Given the description of an element on the screen output the (x, y) to click on. 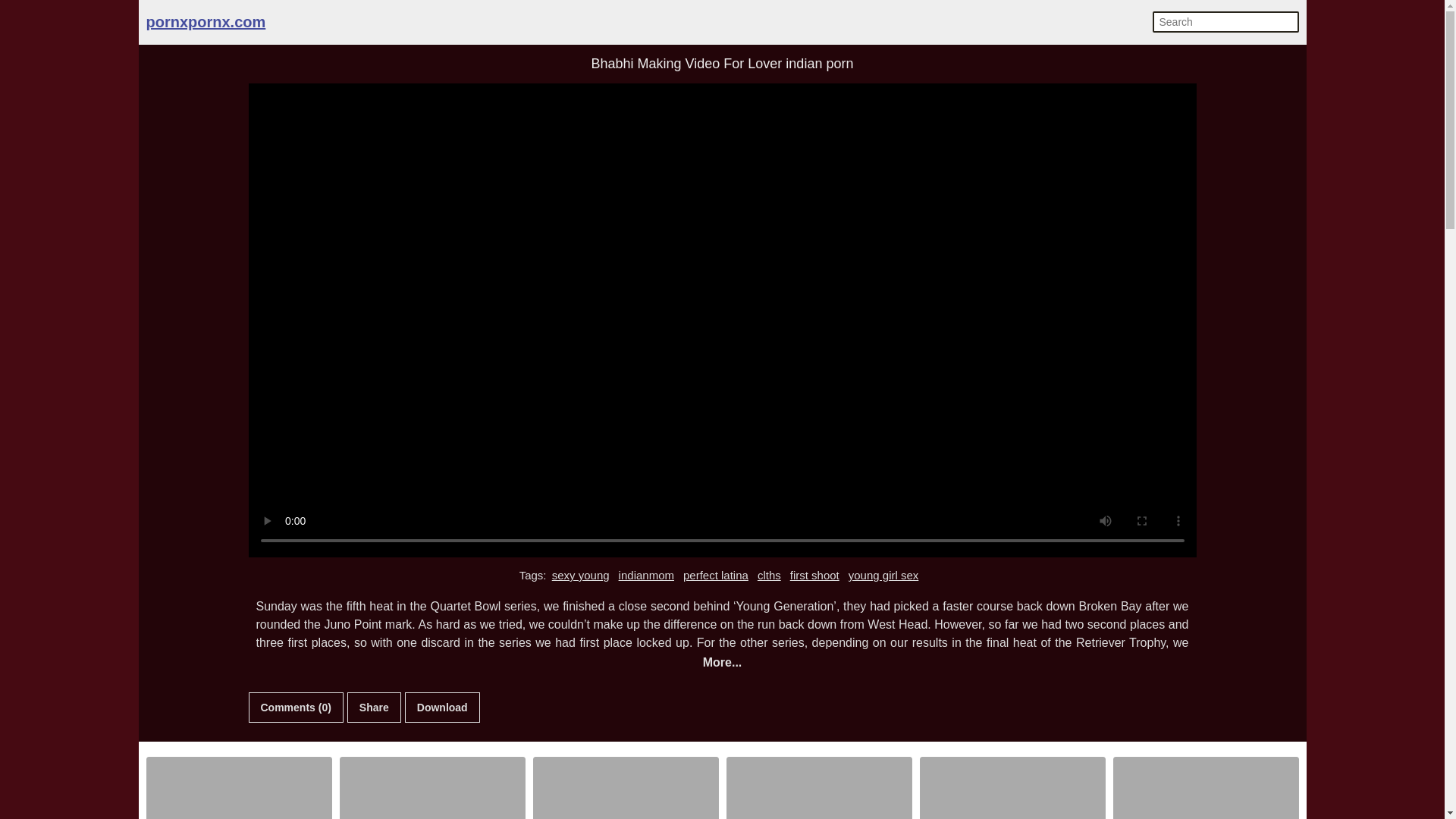
Download (442, 707)
young girl sex (883, 575)
PlayboystarX VIDEOS 32 (1205, 788)
first shoot (814, 575)
clths (769, 575)
Susmita Fashion Shoot 2020 11upmovies (239, 788)
perfect latina (716, 575)
sexy young (580, 575)
Mature Indian housewife enjoying sex with... (625, 788)
Indian bhabhi pussy fucked and creampied (818, 788)
indianmom (646, 575)
The lager girl was alright looking apart from... (1012, 788)
Fisting 2 (431, 788)
pornxpornx.com (204, 21)
Share (374, 707)
